Given the description of an element on the screen output the (x, y) to click on. 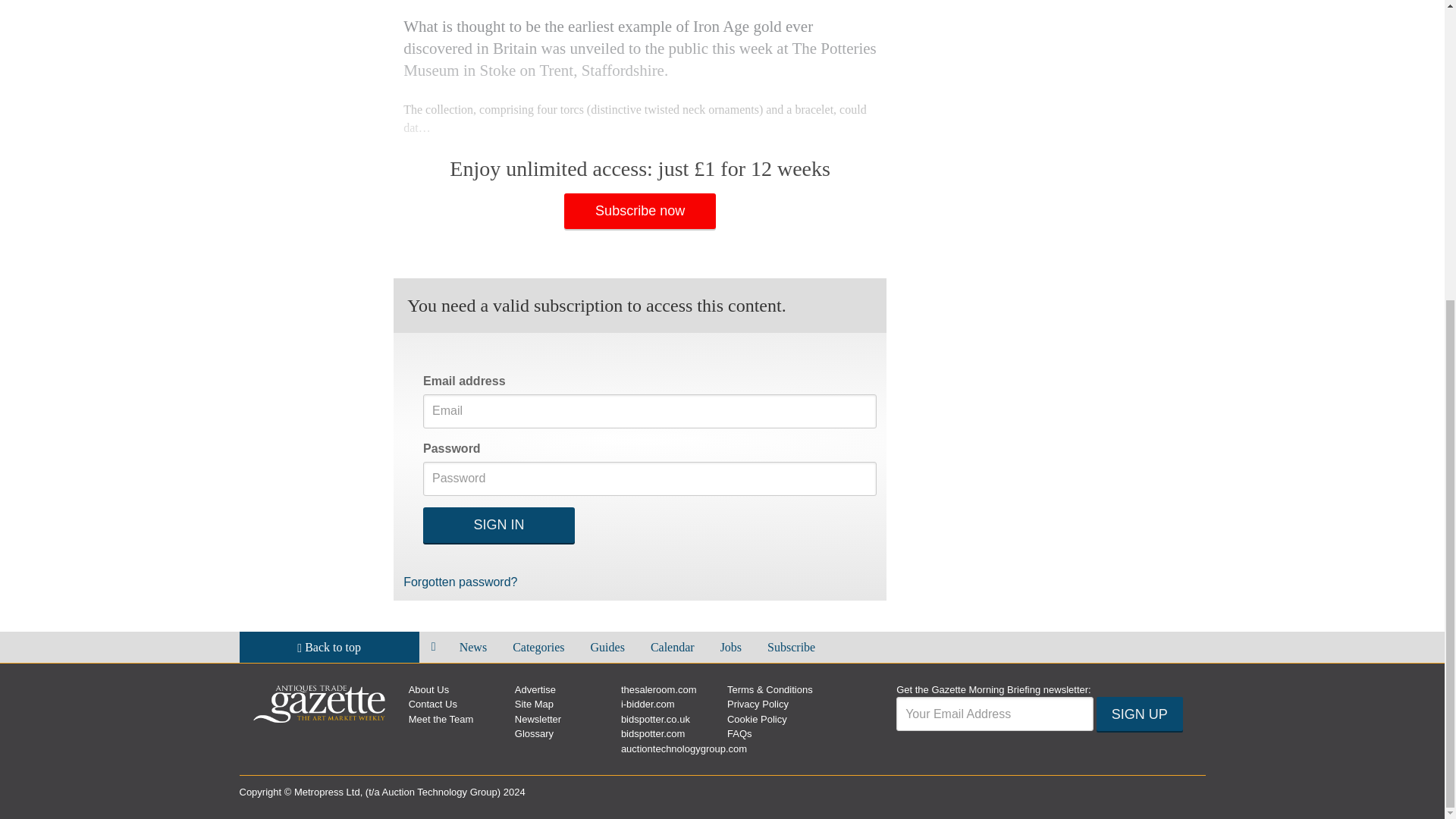
Email address (994, 713)
